Given the description of an element on the screen output the (x, y) to click on. 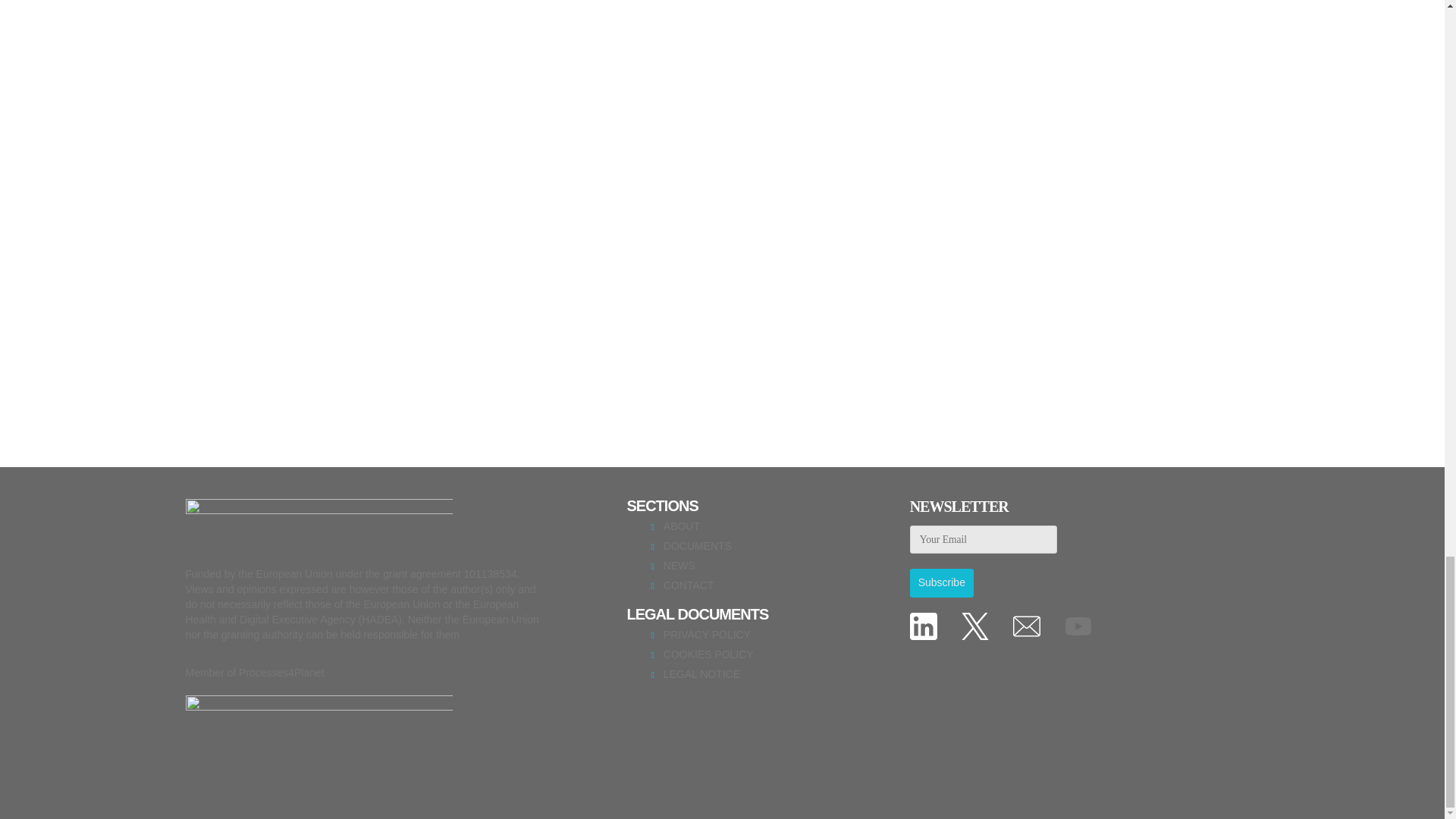
Subscribe (942, 582)
